Given the description of an element on the screen output the (x, y) to click on. 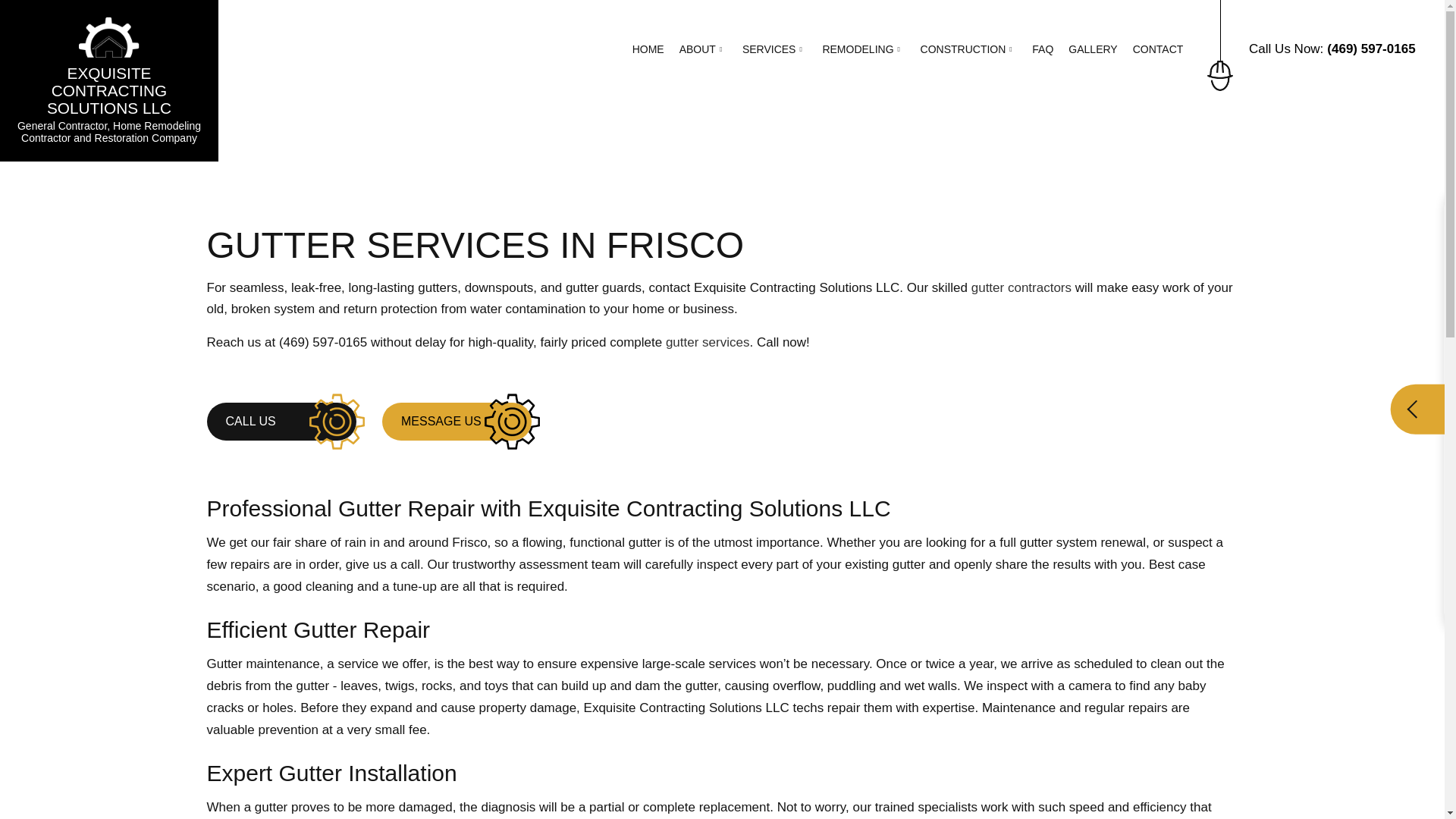
Send us a message (456, 421)
Exquisite Contracting Solutions LLC (108, 35)
Exquisite Contracting Solutions LLC (108, 90)
Learn more about Gutter Services (707, 341)
Learn more about General Contractors (1021, 287)
